Given the description of an element on the screen output the (x, y) to click on. 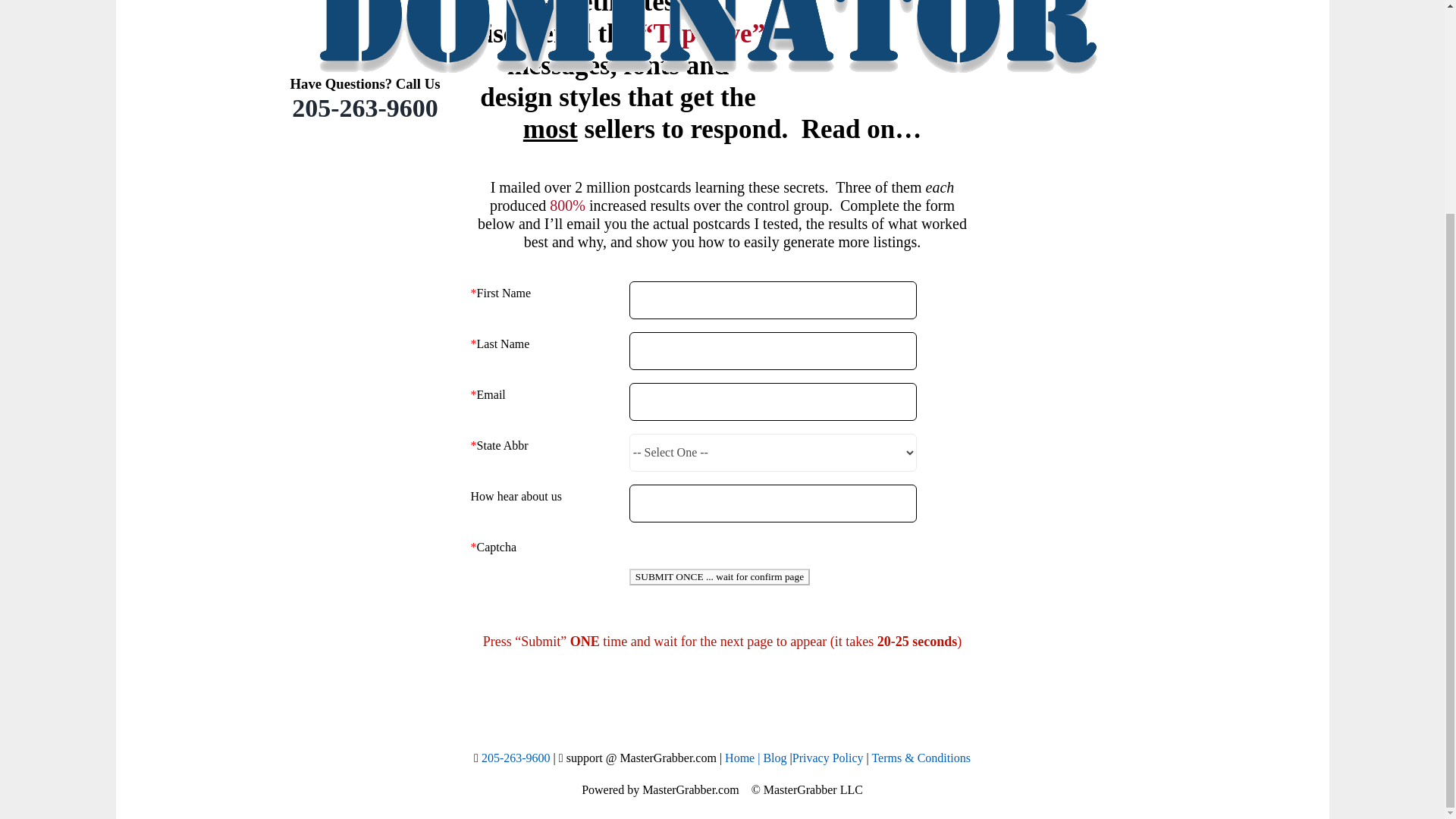
205-263-9600 (364, 108)
Privacy Policy (827, 757)
Blog (774, 757)
 205-263-9600  (516, 757)
SUBMIT ONCE ... wait for confirm page (718, 576)
SUBMIT ONCE ... wait for confirm page (718, 576)
